Given the description of an element on the screen output the (x, y) to click on. 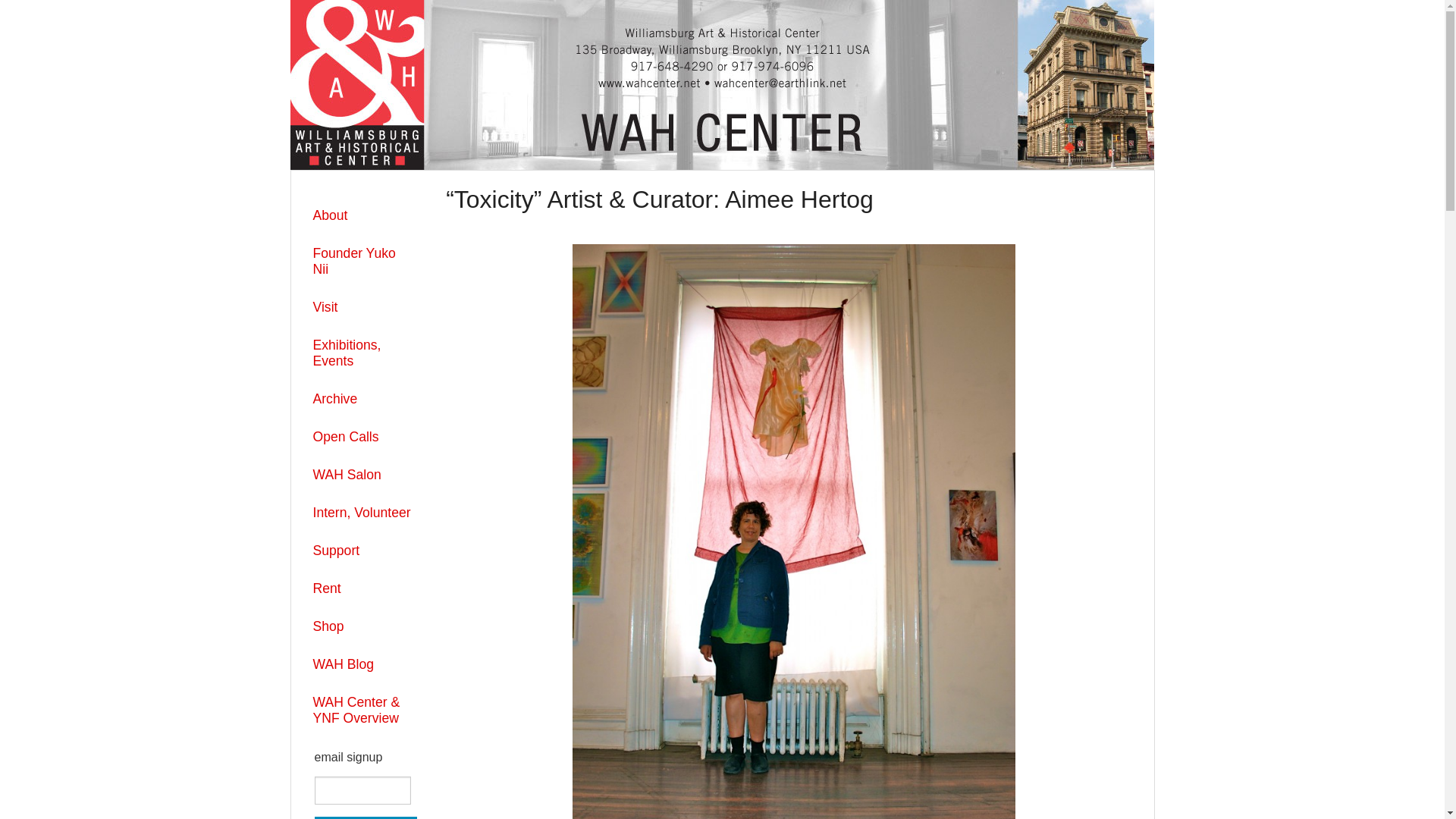
Rentals to film industry, more (362, 588)
WAH Center - Homepage (721, 83)
Hours open, directions (362, 307)
Subscribe (365, 817)
About (362, 215)
Past exhibits and events at the WAH Center (362, 398)
WAH Salon Art Club (362, 474)
Opportunities for artists (362, 437)
